Given the description of an element on the screen output the (x, y) to click on. 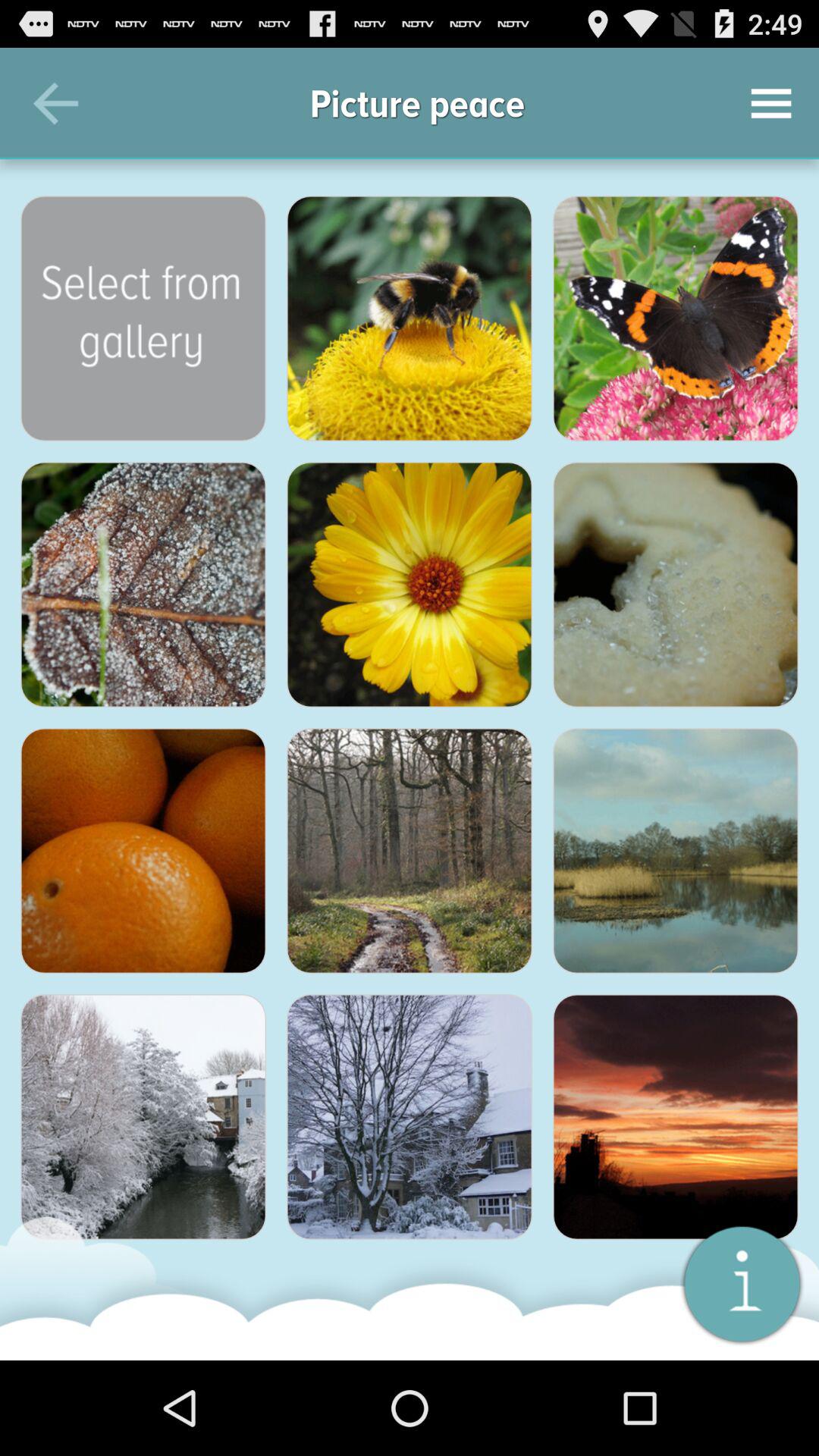
share the article (143, 584)
